Given the description of an element on the screen output the (x, y) to click on. 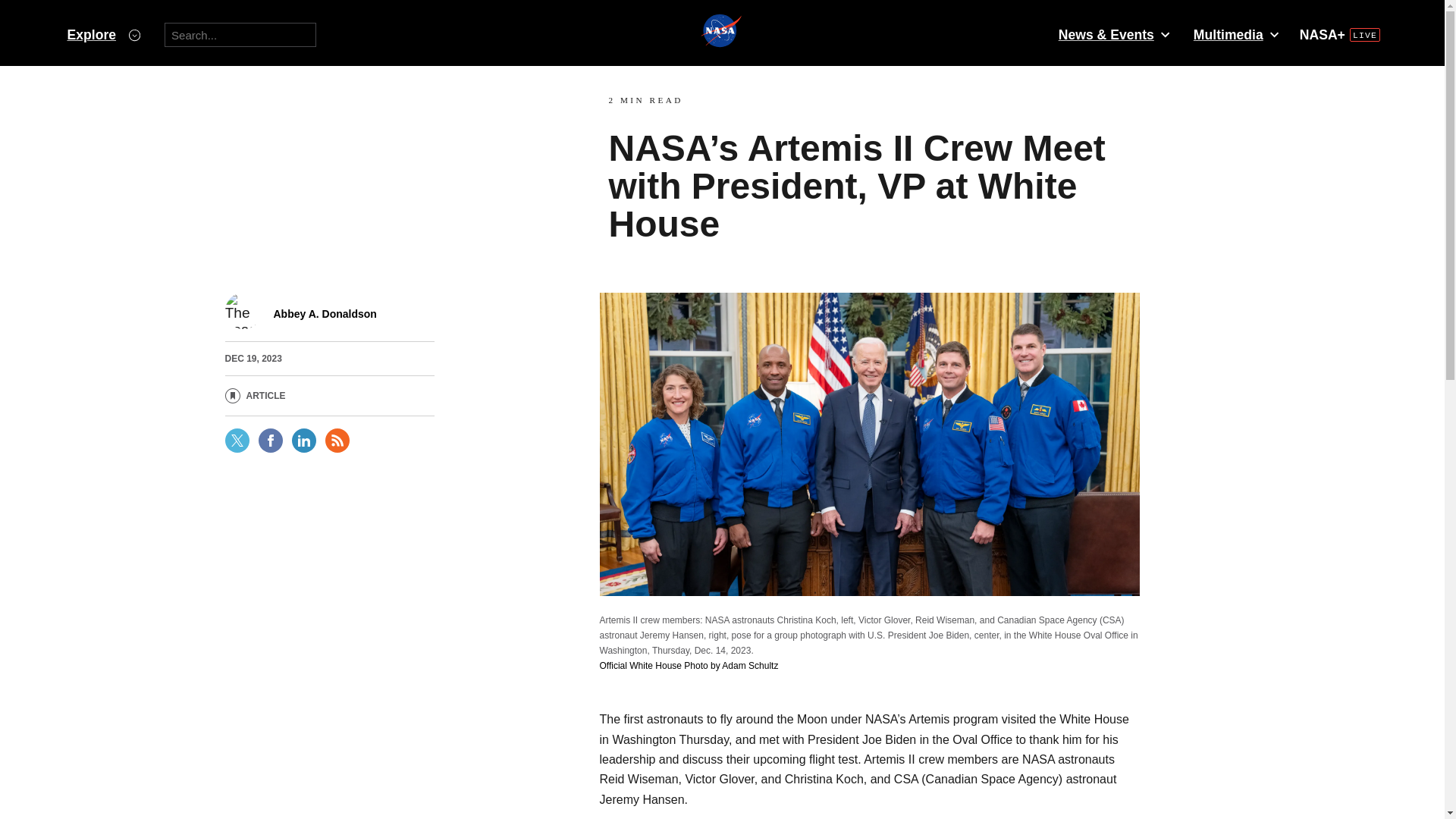
Multimedia (1235, 35)
Explore (103, 35)
